Given the description of an element on the screen output the (x, y) to click on. 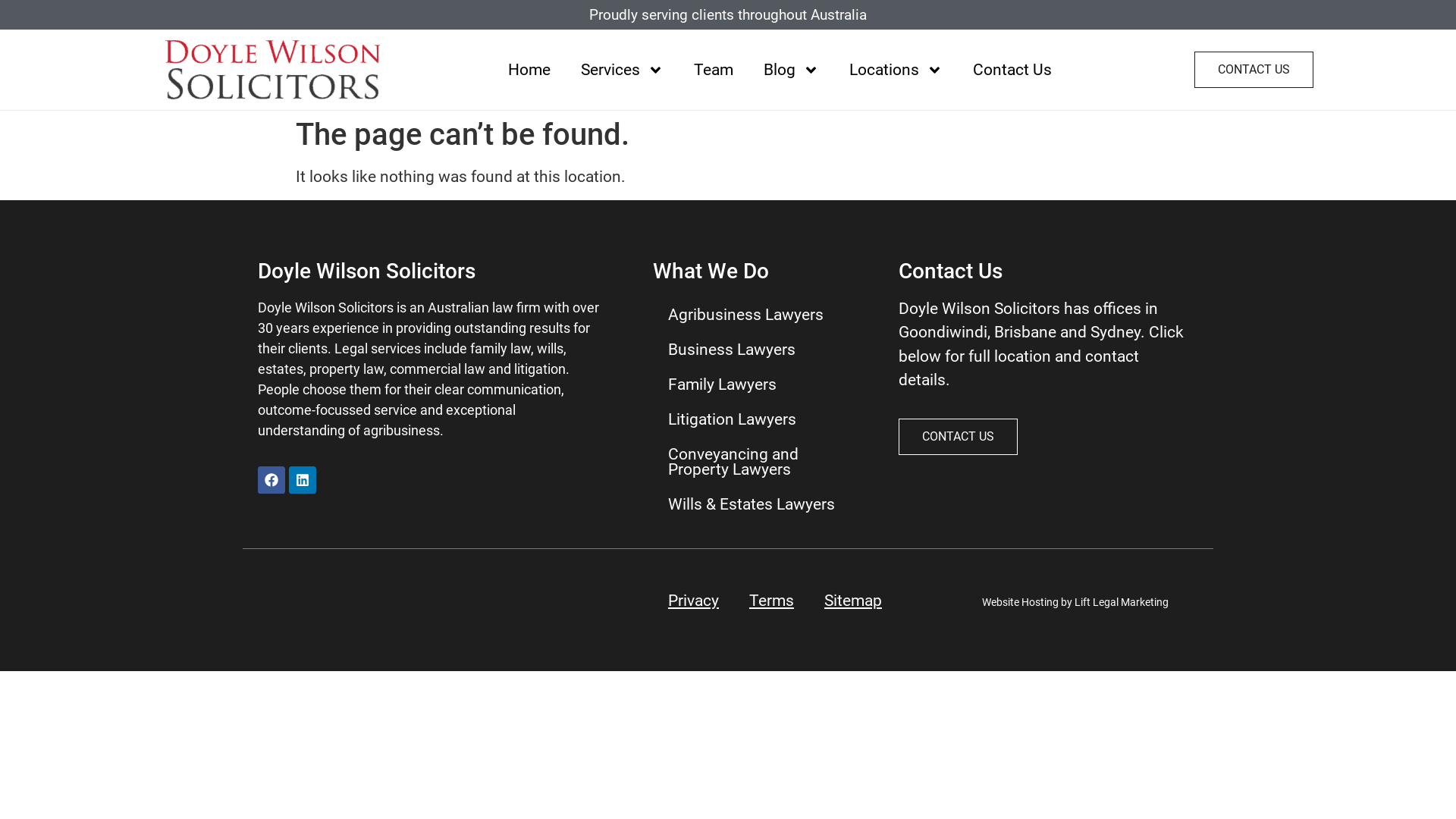
Lift Legal Marketing Element type: text (1121, 602)
CONTACT US Element type: text (1253, 69)
Litigation Lawyers Element type: text (760, 418)
Doyle Wilson Solicitors Element type: text (366, 270)
CONTACT US Element type: text (957, 436)
Terms Element type: text (771, 600)
Home Element type: text (528, 69)
Agribusiness Lawyers Element type: text (760, 314)
Family Lawyers Element type: text (760, 384)
Conveyancing and Property Lawyers Element type: text (760, 461)
Services Element type: text (621, 69)
Blog Element type: text (791, 69)
Privacy Element type: text (693, 600)
Sitemap Element type: text (853, 600)
Wills & Estates Lawyers Element type: text (760, 503)
Team Element type: text (713, 69)
Business Lawyers Element type: text (760, 349)
Locations Element type: text (895, 69)
Contact Us Element type: text (1011, 69)
